Given the description of an element on the screen output the (x, y) to click on. 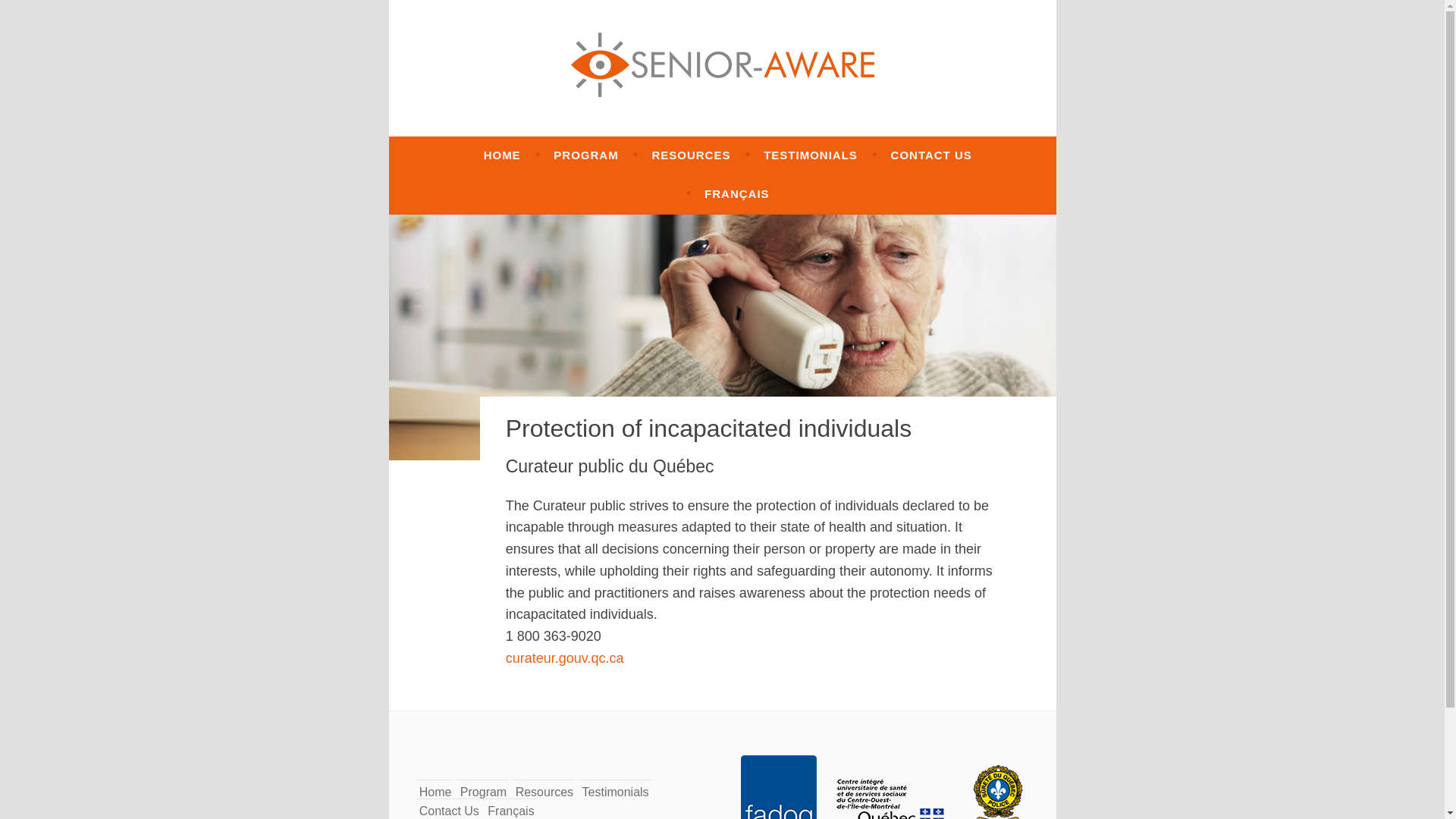
PROGRAM (585, 154)
Resources (544, 791)
Home (435, 791)
CONTACT US (931, 154)
RESOURCES (690, 154)
Contact Us (449, 810)
Program (483, 791)
TESTIMONIALS (809, 154)
Testimonials (615, 791)
HOME (502, 154)
curateur.gouv.qc.ca (564, 657)
